Given the description of an element on the screen output the (x, y) to click on. 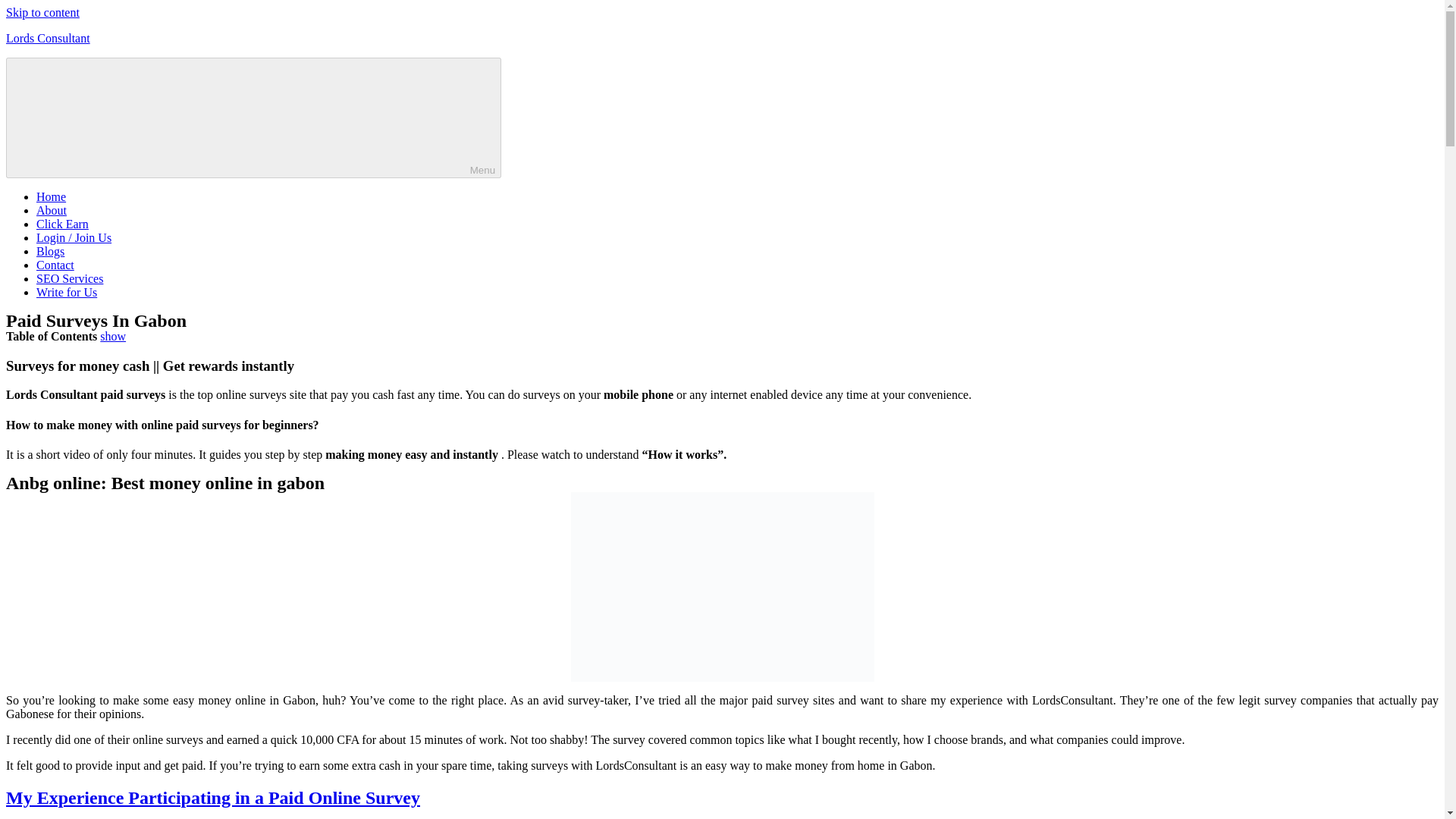
Menu (252, 117)
Home (50, 196)
Write for Us (66, 291)
Click Earn (62, 223)
Contact (55, 264)
Blogs (50, 250)
SEO Services (69, 278)
show (112, 336)
Lords Consultant (47, 38)
About (51, 210)
Online Paid Survey Gabon 1 (721, 586)
Skip to content (42, 11)
